Given the description of an element on the screen output the (x, y) to click on. 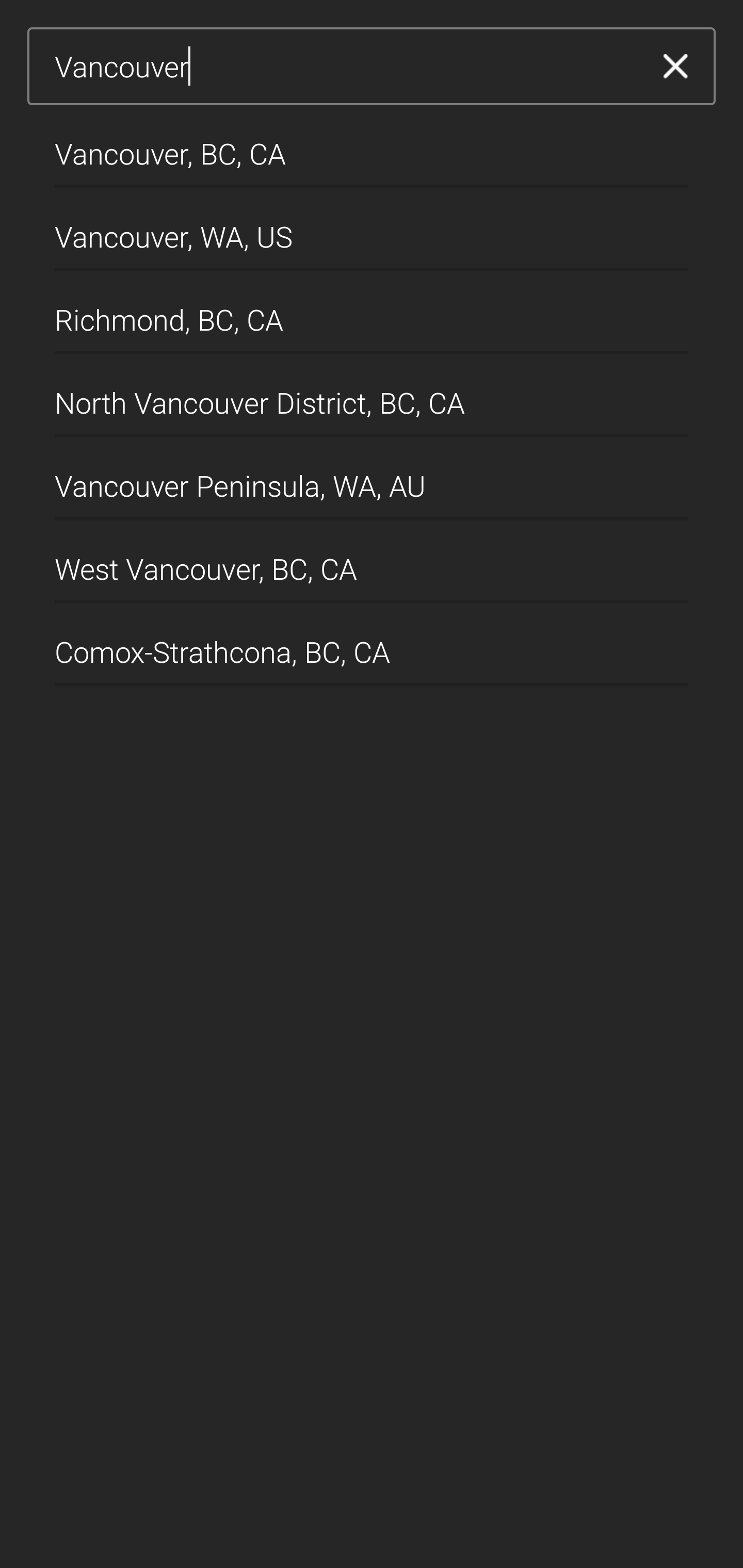
Vancouver (345, 66)
Vancouver, BC, CA (371, 146)
Vancouver, WA, US (371, 229)
Richmond, BC, CA (371, 312)
North Vancouver District, BC, CA (371, 395)
Vancouver Peninsula, WA, AU (371, 478)
West Vancouver, BC, CA (371, 561)
Comox-Strathcona, BC, CA (371, 644)
